Given the description of an element on the screen output the (x, y) to click on. 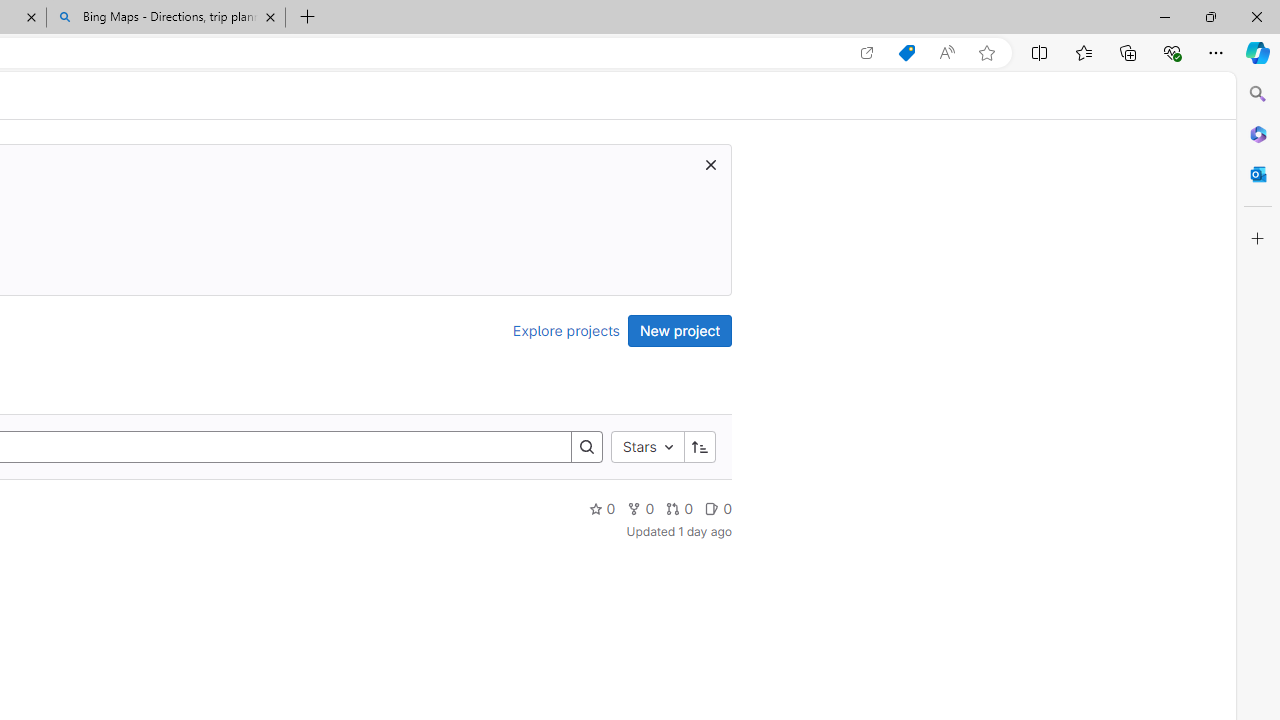
Class: s16 gl-icon gl-button-icon  (710, 164)
Customize (1258, 239)
Outlook (1258, 174)
0 (718, 508)
Sort direction: Ascending (699, 445)
Dismiss trial promotion (710, 164)
Class: s14 gl-mr-2 (712, 508)
Open in app (867, 53)
